Given the description of an element on the screen output the (x, y) to click on. 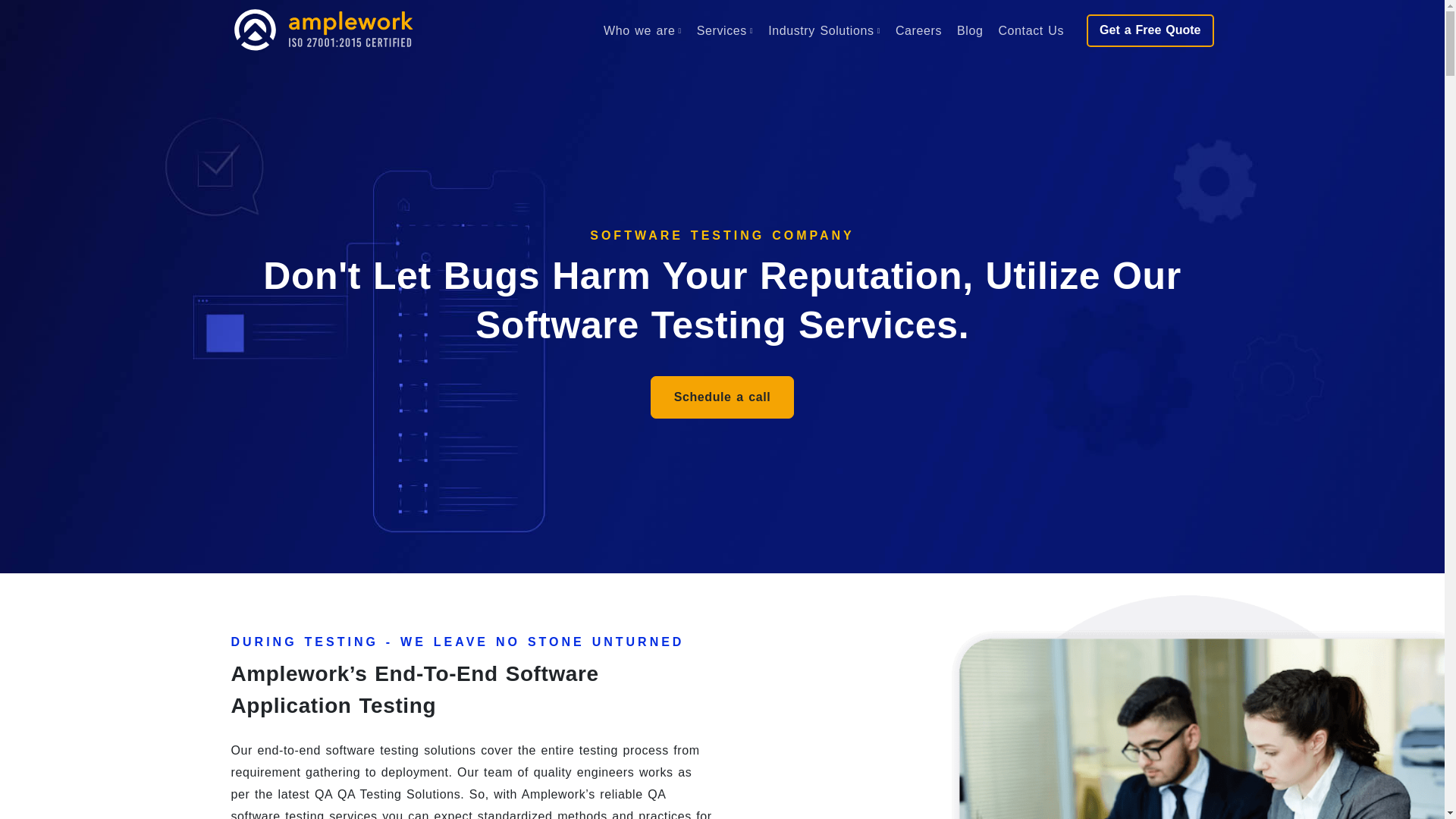
Services (724, 30)
Who we are (641, 30)
